Given the description of an element on the screen output the (x, y) to click on. 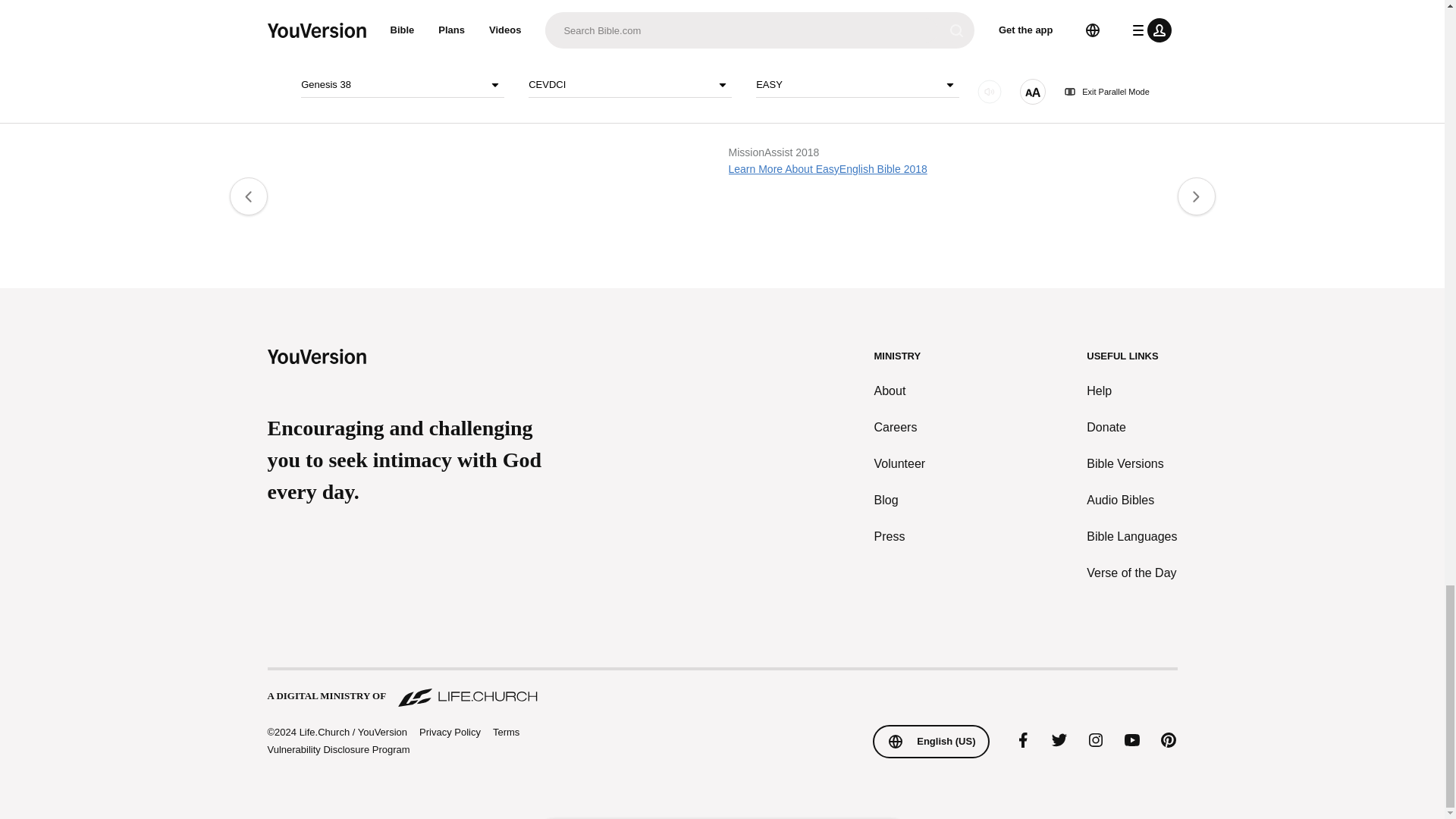
Donate (1131, 427)
Vulnerability Disclosure Program (337, 749)
Verse of the Day (1131, 573)
Learn More About EasyEnglish Bible 2018 (827, 168)
Help (1131, 391)
Press (900, 536)
Audio Bibles (1131, 500)
About (900, 391)
Blog (900, 500)
Careers (900, 427)
